Given the description of an element on the screen output the (x, y) to click on. 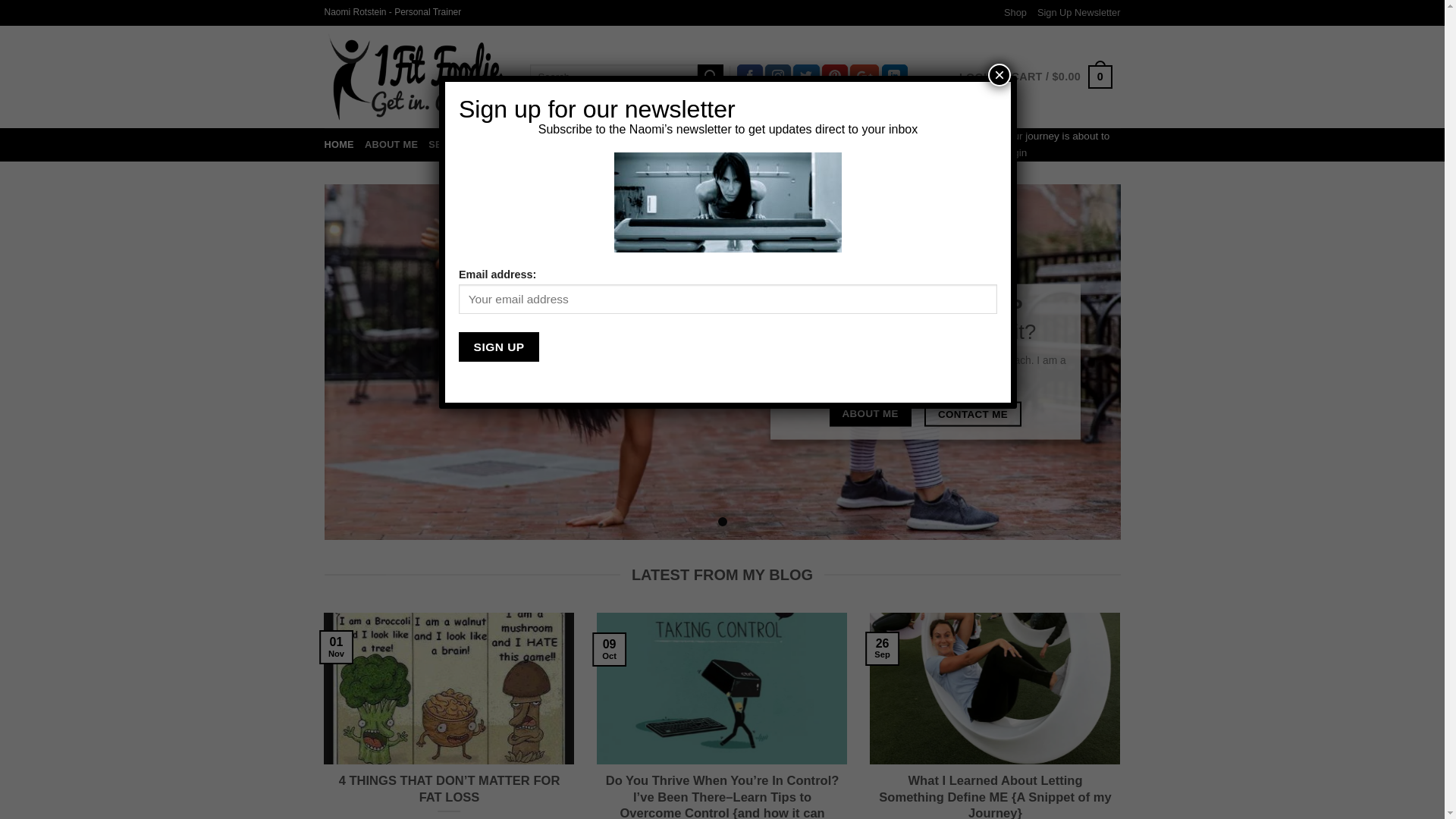
LOGIN Element type: text (976, 77)
CONTACT Element type: text (977, 144)
CART / $0.00
0 Element type: text (1061, 76)
Shop Element type: text (1015, 12)
RECIPES Element type: text (746, 144)
SERVICES & FREEBIE DOWNLOADS Element type: text (516, 144)
ABOUT ME Element type: text (390, 144)
HOME Element type: text (339, 144)
ABOUT ME Element type: text (870, 413)
SHOP Element type: text (792, 144)
BLOG Element type: text (832, 144)
PHOTO GALLERY Element type: text (900, 144)
ASSESSMENT INFO. Element type: text (664, 144)
CONTACT ME Element type: text (972, 413)
Sign up Element type: text (498, 346)
Sign Up Newsletter Element type: text (1078, 12)
